Given the description of an element on the screen output the (x, y) to click on. 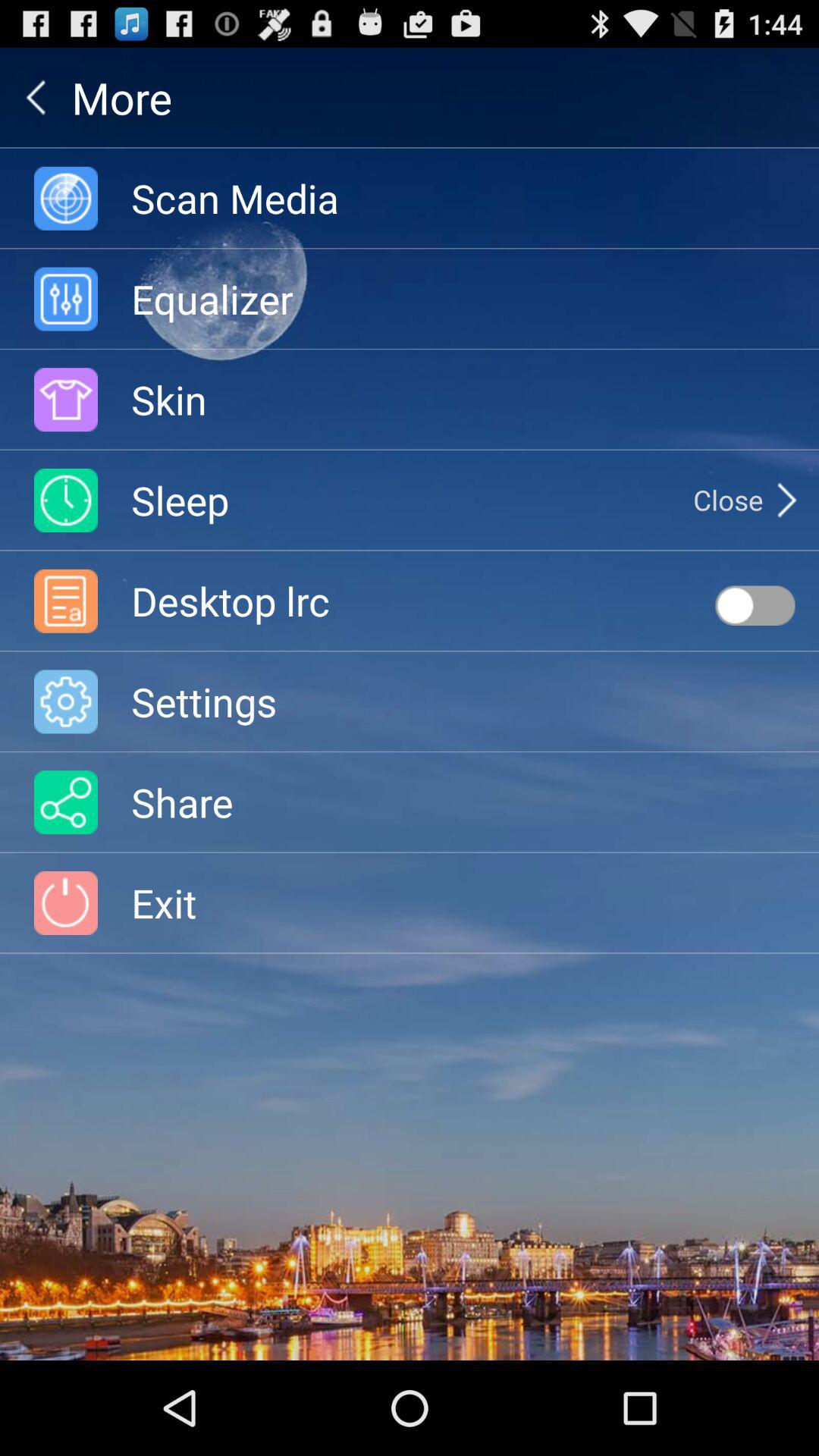
launch icon to the right of desktop lrc (755, 605)
